Given the description of an element on the screen output the (x, y) to click on. 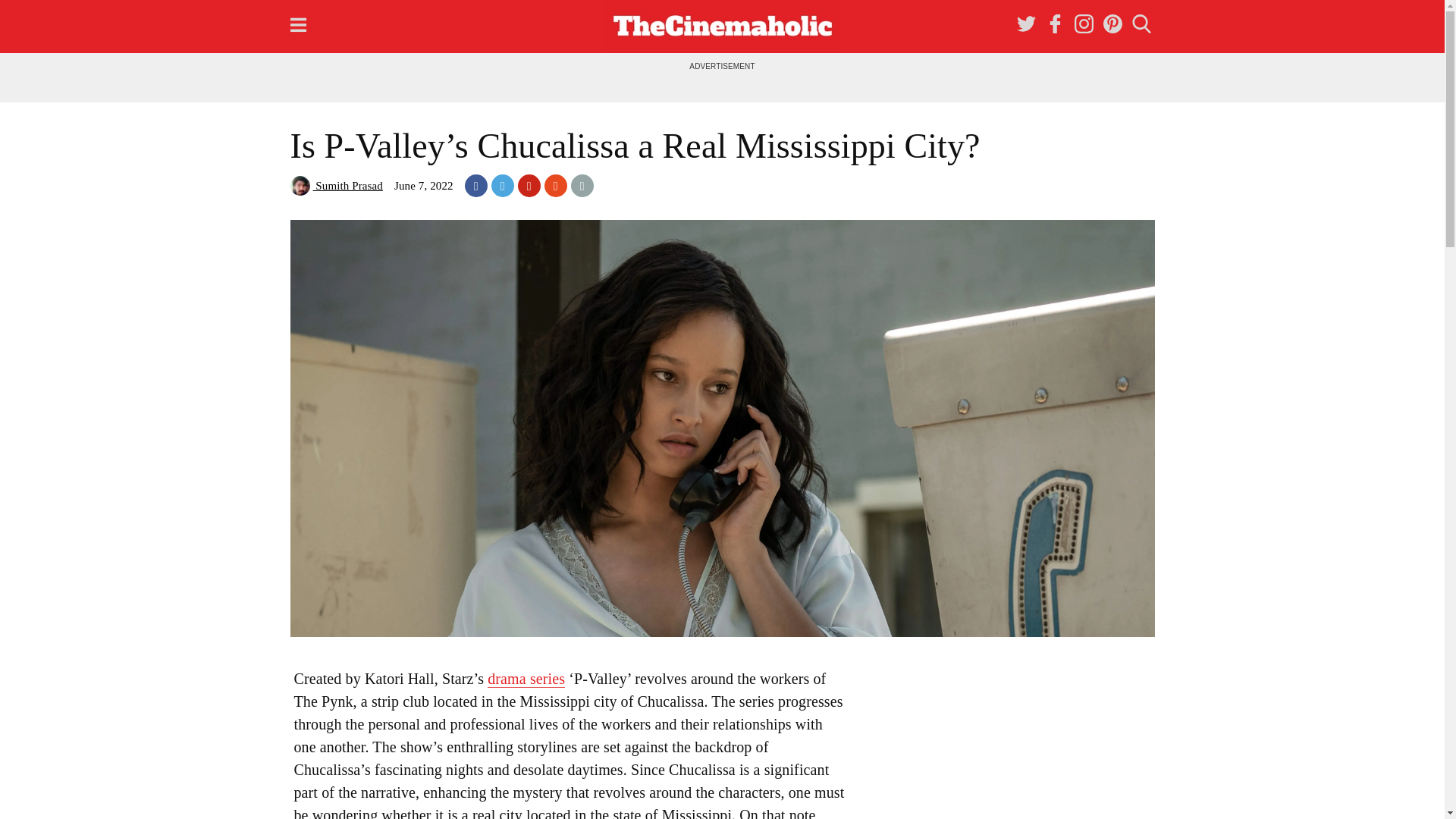
Sumith Prasad (335, 185)
drama series (525, 678)
